Given the description of an element on the screen output the (x, y) to click on. 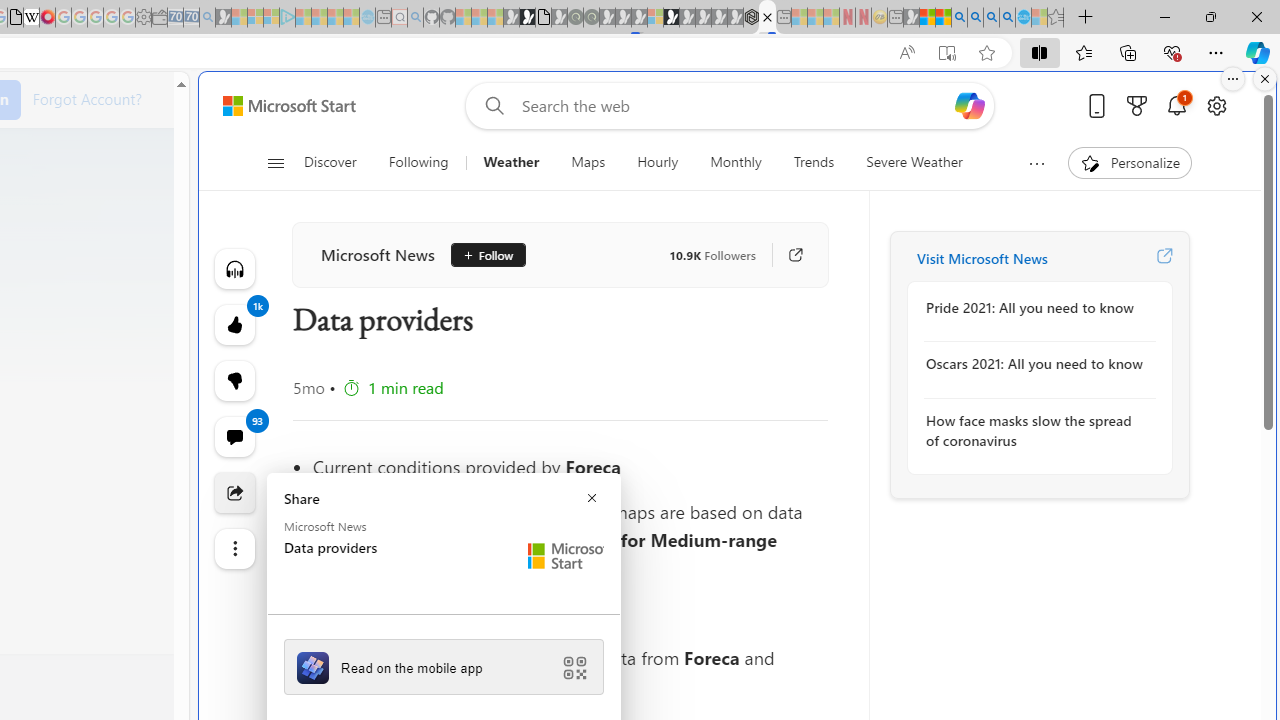
How face masks slow the spread of coronavirus (1034, 429)
1k (234, 380)
1k Like (234, 324)
github - Search - Sleeping (415, 17)
